Given the description of an element on the screen output the (x, y) to click on. 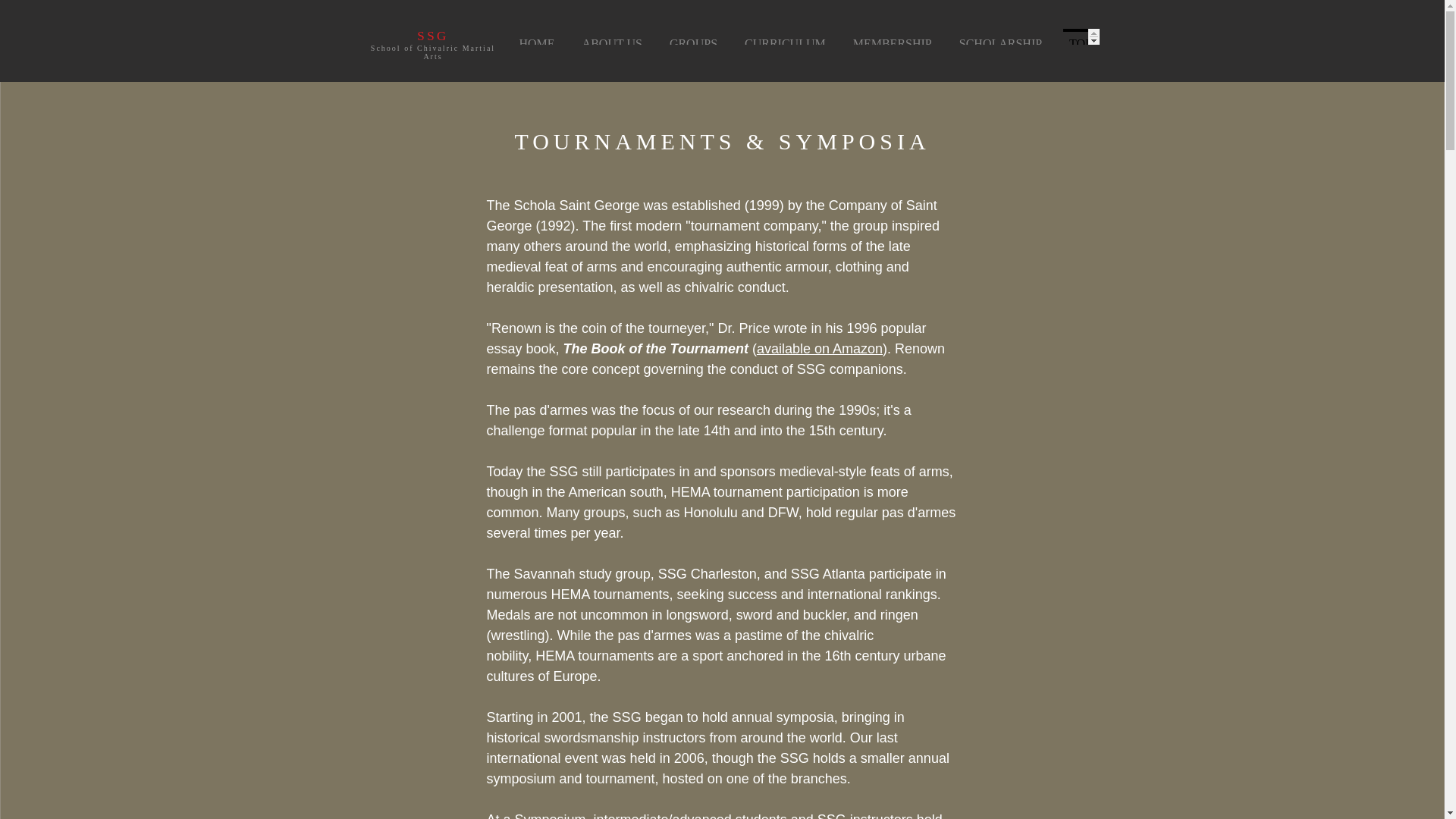
ABOUT US (612, 36)
SSG (432, 35)
HOME (536, 36)
GROUPS (693, 36)
CURRICULUM (785, 36)
